Given the description of an element on the screen output the (x, y) to click on. 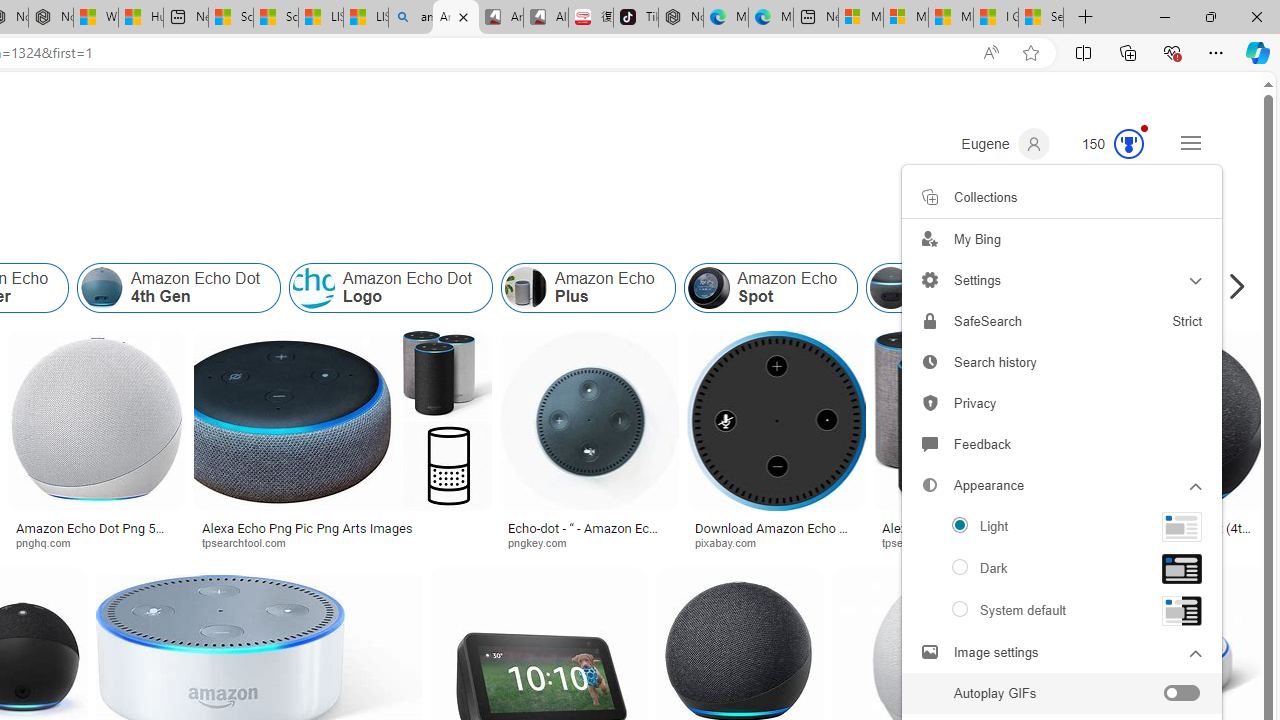
tpsearchtool.com (930, 541)
Image settings (929, 651)
Wildlife - MSN (95, 17)
Nordace - Best Sellers (680, 17)
pnghq.com (96, 542)
Microsoft account | Privacy (905, 17)
